Given the description of an element on the screen output the (x, y) to click on. 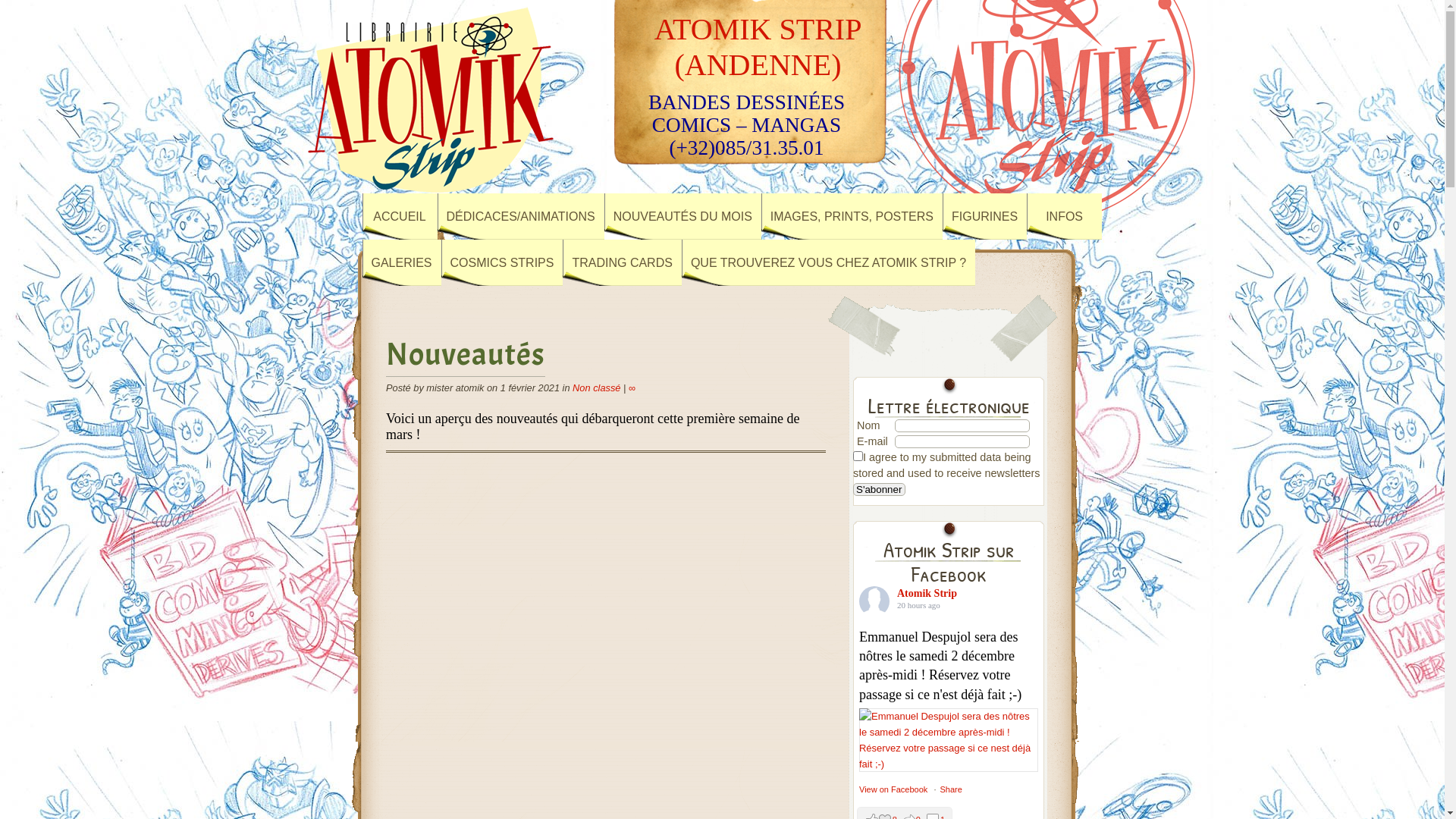
INFOS Element type: text (1063, 216)
ACCUEIL Element type: text (399, 216)
FIGURINES Element type: text (984, 216)
GALERIES Element type: text (401, 262)
Share Element type: text (950, 788)
IMAGES, PRINTS, POSTERS Element type: text (851, 216)
QUE TROUVEREZ VOUS CHEZ ATOMIK STRIP ? Element type: text (828, 262)
ATOMIK STRIP (ANDENNE) Element type: text (758, 46)
Atomik Strip Element type: text (927, 593)
TRADING CARDS Element type: text (621, 262)
View on Facebook Element type: text (893, 788)
S'abonner Element type: text (879, 489)
COSMICS STRIPS Element type: text (502, 262)
